Given the description of an element on the screen output the (x, y) to click on. 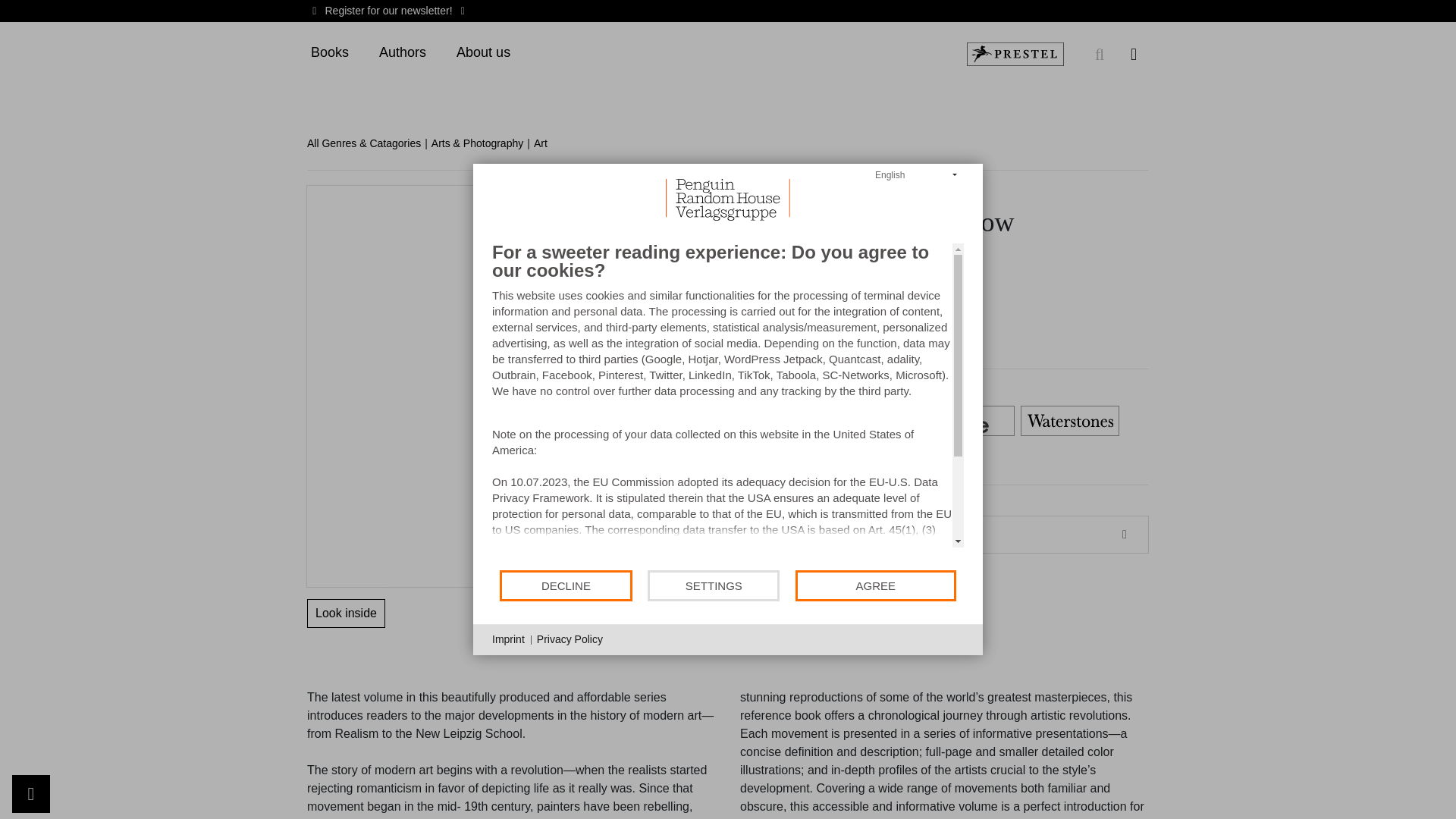
blackwells (755, 421)
amazoncouk (651, 421)
Books (329, 52)
About us (483, 52)
OTHER PRODUCT FORMS (874, 534)
waterstones (1069, 421)
Look inside (346, 613)
bookshop (860, 421)
Register for our newsletter! (388, 10)
hive (964, 421)
Art (545, 142)
Authors (402, 52)
otherstores (651, 458)
Rosalind Ormiston (651, 193)
